Given the description of an element on the screen output the (x, y) to click on. 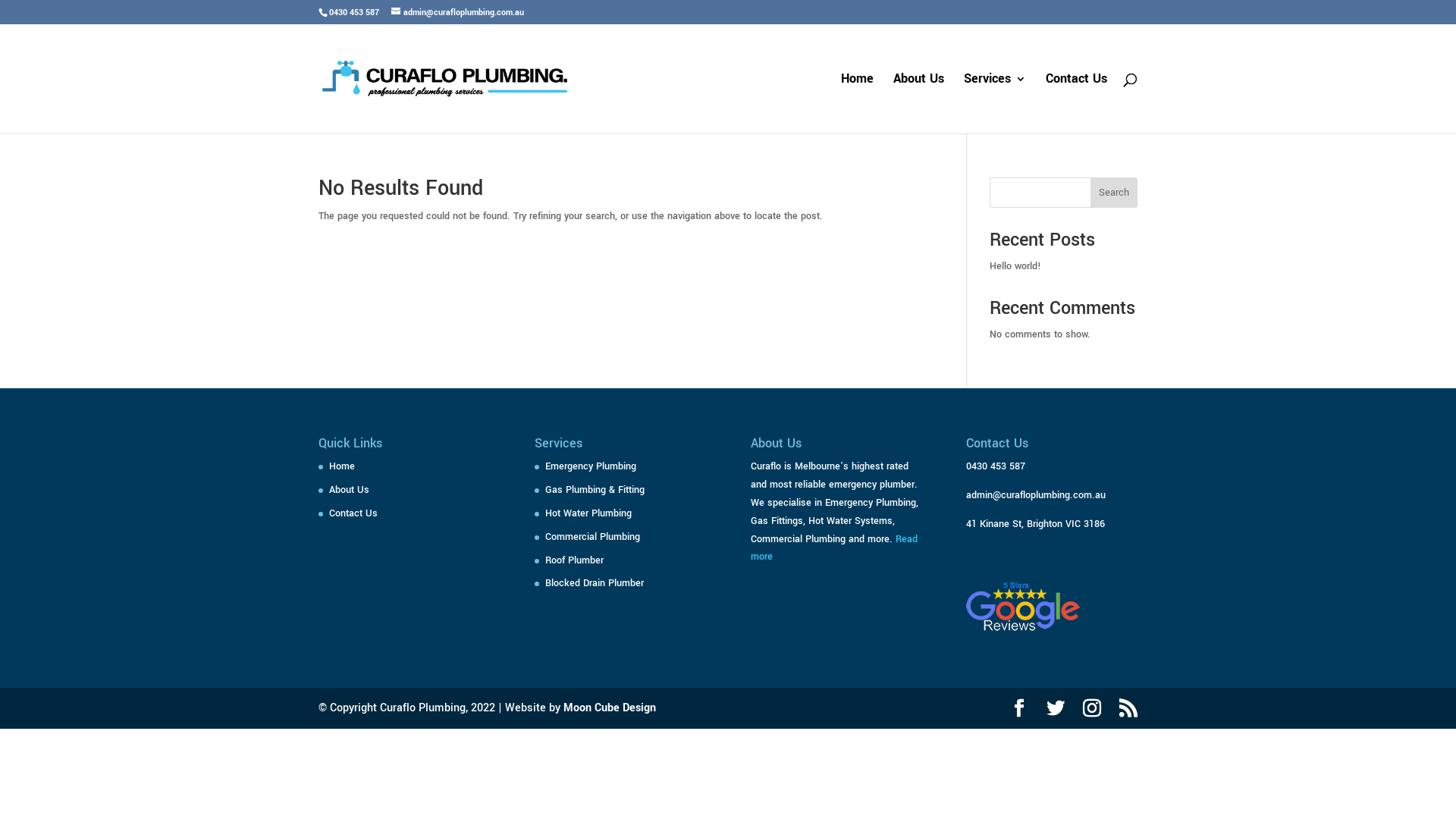
0430 453 587 Element type: text (354, 12)
Hot Water Plumbing Element type: text (588, 513)
Moon Cube Design Element type: text (609, 707)
Contact Us Element type: text (353, 513)
Services Element type: text (994, 103)
Hello world! Element type: text (1015, 266)
Home Element type: text (341, 466)
Roof Plumber Element type: text (574, 560)
Gas Plumbing & Fitting Element type: text (594, 489)
Blocked Drain Plumber Element type: text (594, 582)
Search Element type: text (1113, 192)
Home Element type: text (856, 103)
0430 453 587 Element type: text (995, 466)
About Us Element type: text (349, 489)
Read more Element type: text (833, 548)
Commercial Plumbing Element type: text (592, 536)
About Us Element type: text (918, 103)
Emergency Plumbing Element type: text (590, 466)
admin@curafloplumbing.com.au Element type: text (457, 12)
Contact Us Element type: text (1076, 103)
admin@curafloplumbing.com.au Element type: text (1035, 495)
